Given the description of an element on the screen output the (x, y) to click on. 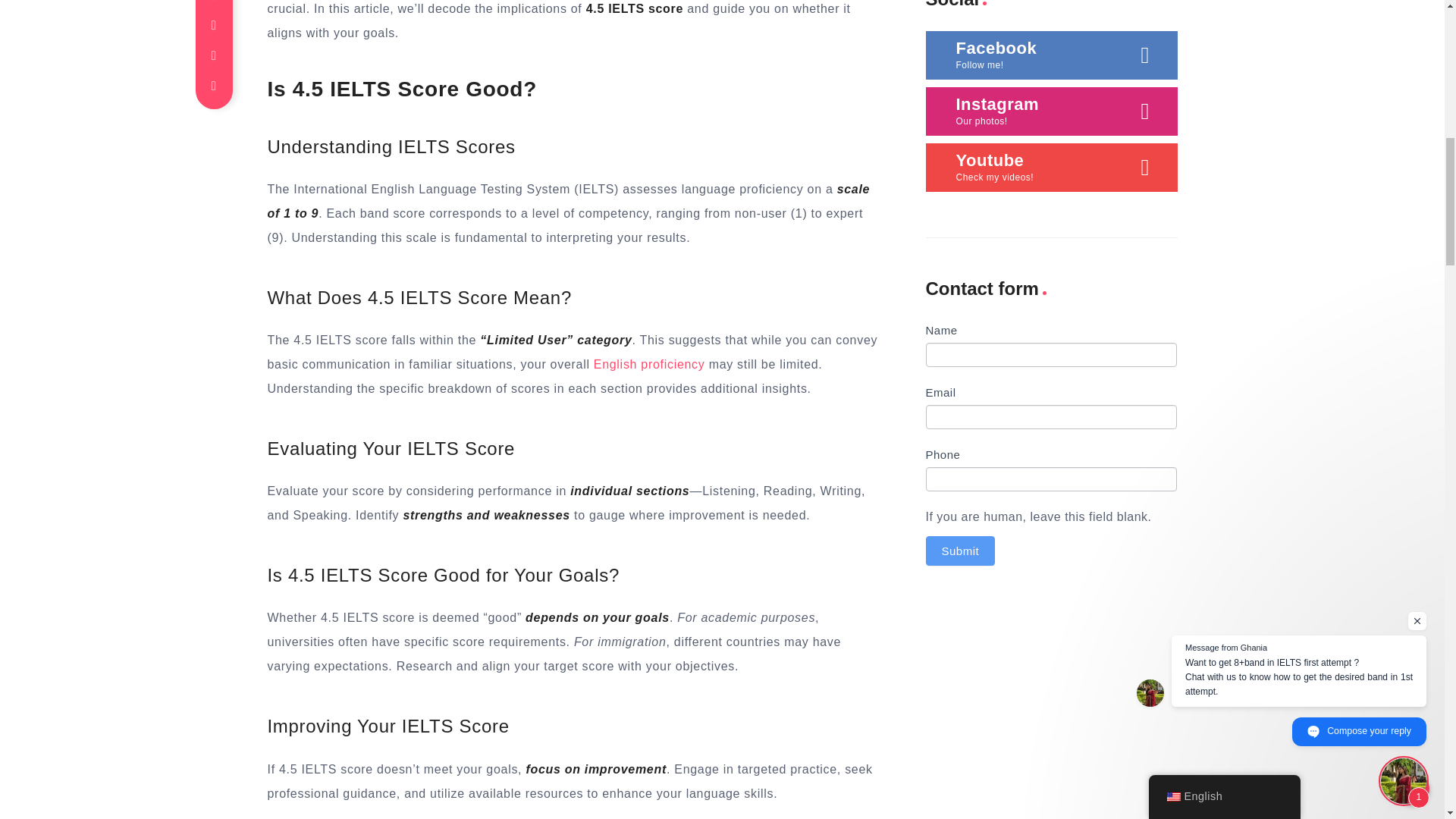
English proficiency (649, 364)
